Given the description of an element on the screen output the (x, y) to click on. 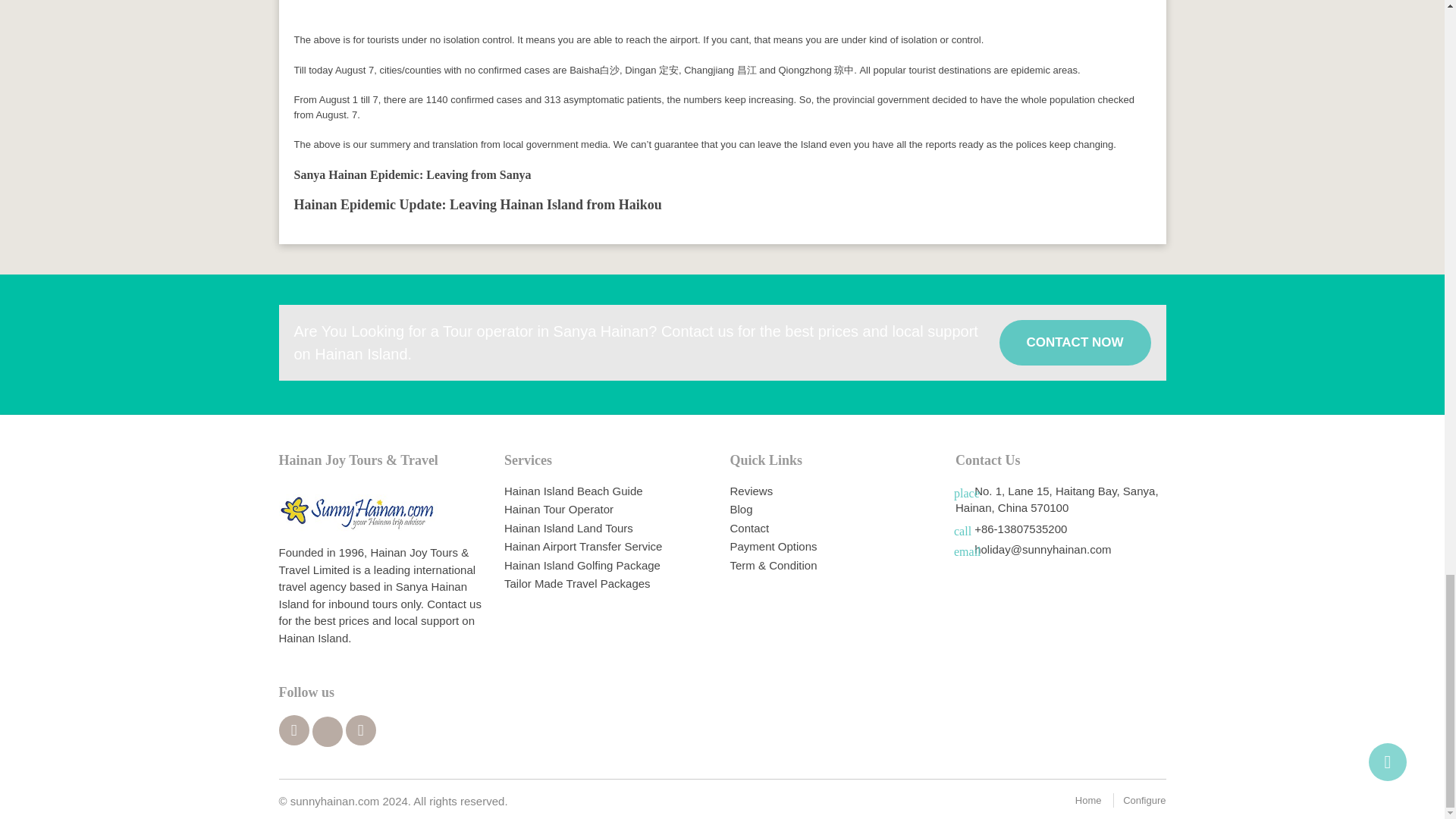
facebook (293, 729)
CONTACT NOW (1074, 342)
Hainan Airport Transfer Service (582, 545)
instagram (360, 729)
Hainan Island Golfing Package (582, 564)
Blog (740, 508)
Hainan Island Beach Guide (573, 490)
Hainan Tour Operator (557, 508)
Tailor Made Travel Packages (576, 583)
Payment Options (772, 545)
